Given the description of an element on the screen output the (x, y) to click on. 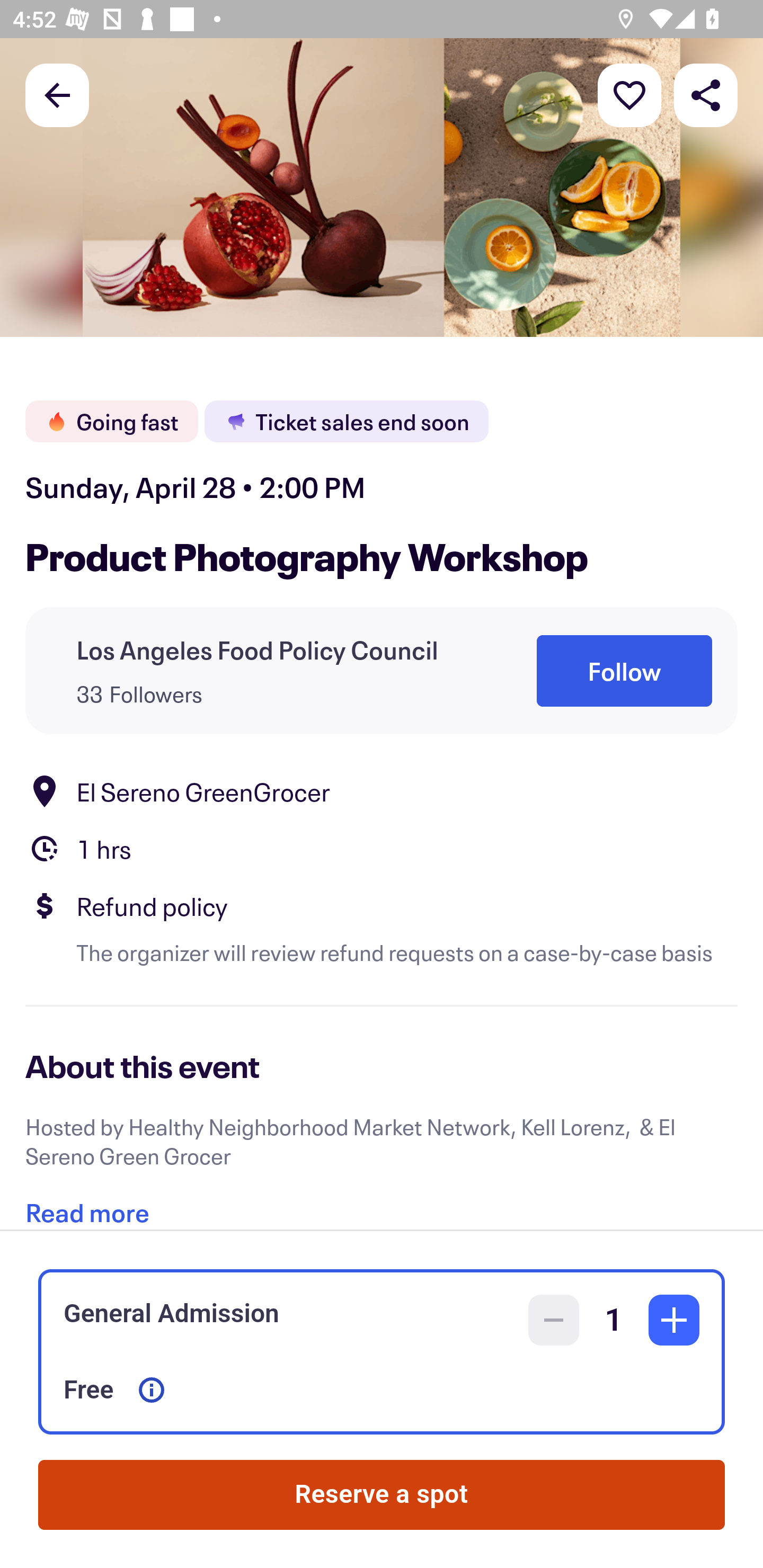
Back (57, 94)
More (629, 94)
Share (705, 94)
Los Angeles Food Policy Council (257, 649)
Follow (623, 670)
Location El Sereno GreenGrocer (381, 790)
Read more (87, 1202)
